Given the description of an element on the screen output the (x, y) to click on. 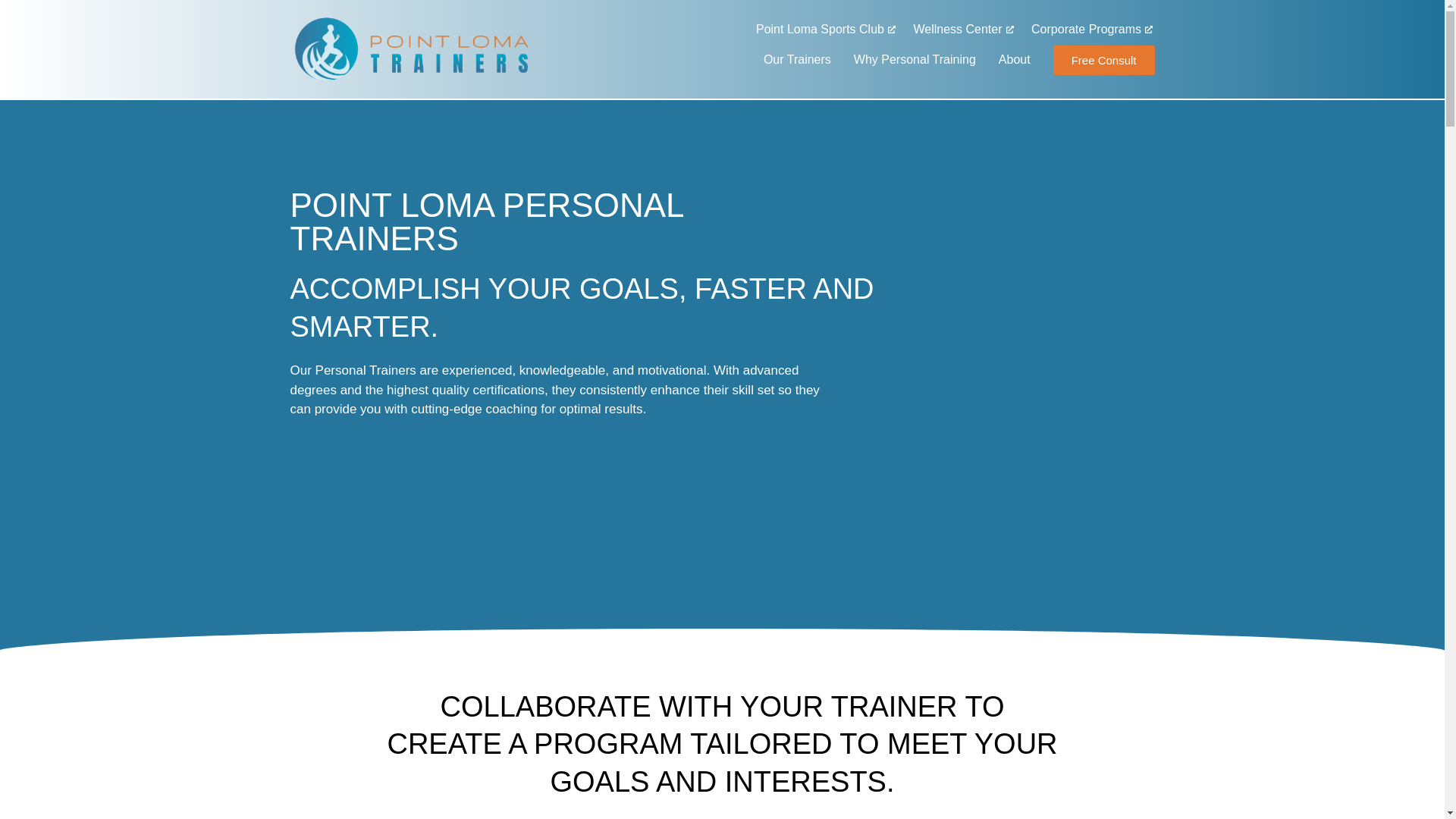
Wellness Center (961, 29)
Our Trainers (796, 59)
Point Loma Sports Club (824, 29)
Free Consult (1103, 60)
Corporate Programs (1090, 29)
Why Personal Training (914, 59)
About (1014, 59)
